Given the description of an element on the screen output the (x, y) to click on. 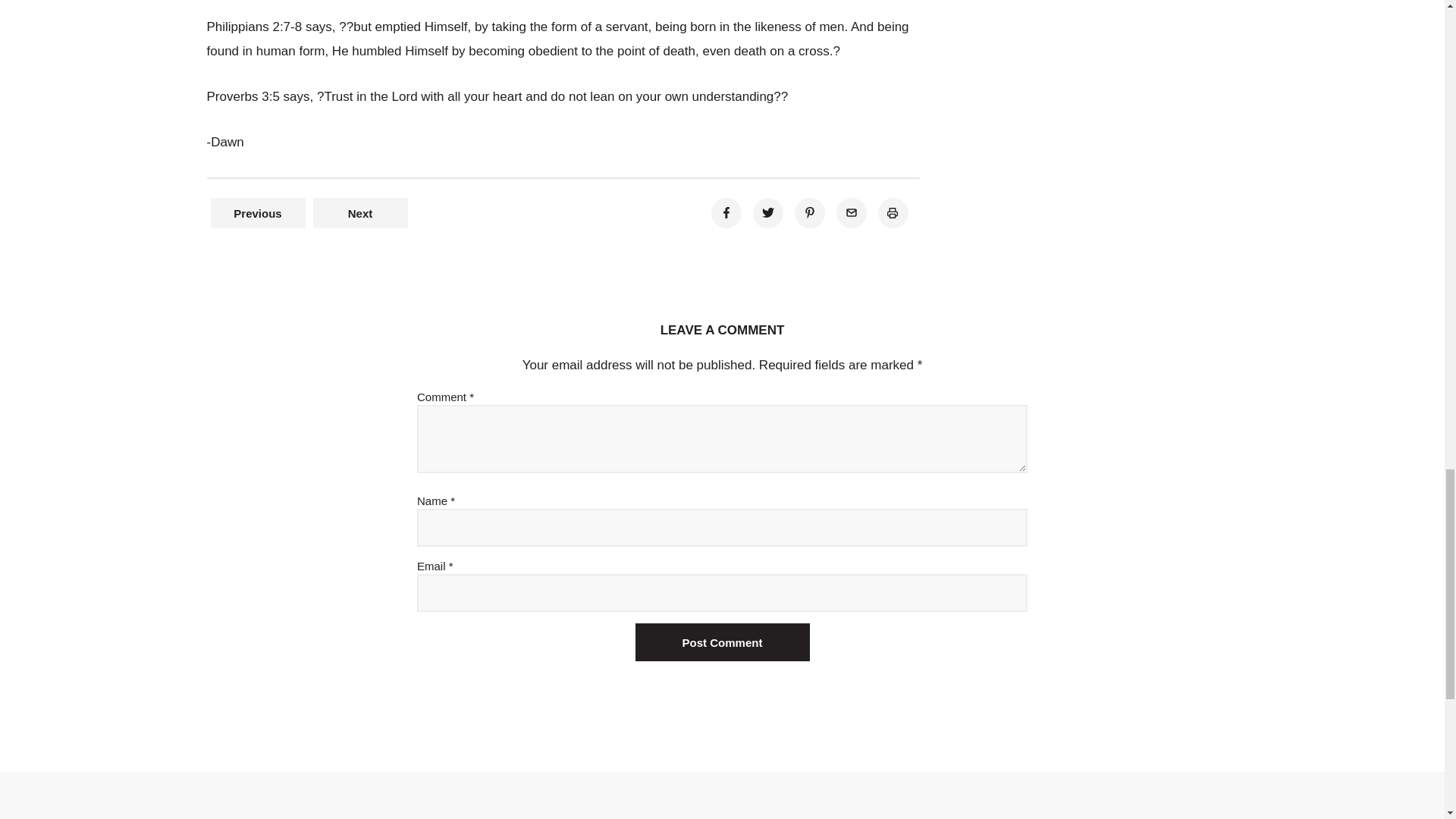
Post Comment (721, 641)
